Given the description of an element on the screen output the (x, y) to click on. 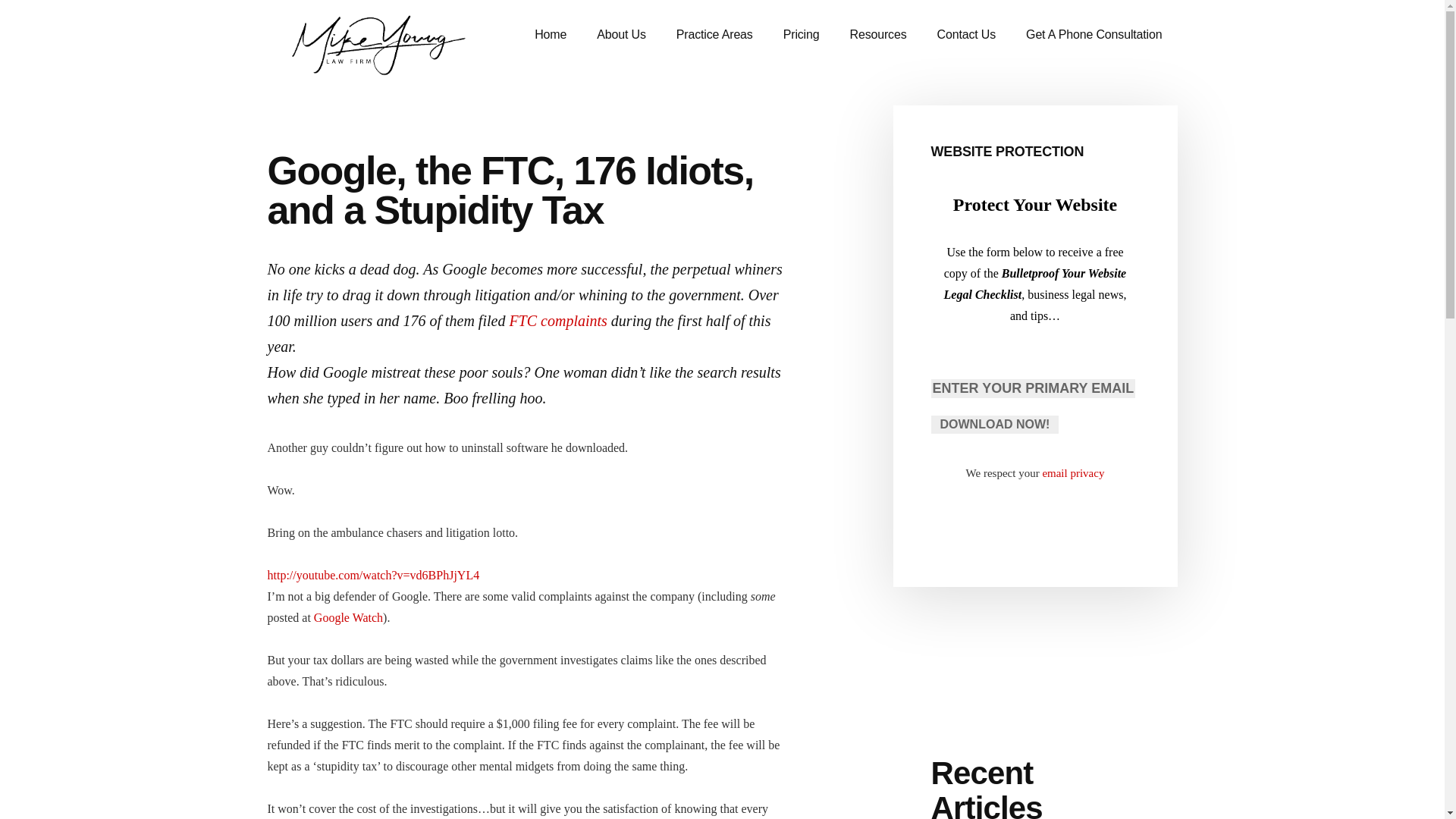
About Us (620, 34)
DOWNLOAD NOW! (995, 424)
email privacy (1072, 472)
Contact Us (966, 34)
Dallas Business Lawyer Home Page (549, 34)
Resources (877, 34)
Business Lawyer Services (714, 34)
Google Watch (348, 617)
ENTER YOUR PRIMARY EMAIL (1033, 388)
DOWNLOAD NOW! (995, 424)
